Given the description of an element on the screen output the (x, y) to click on. 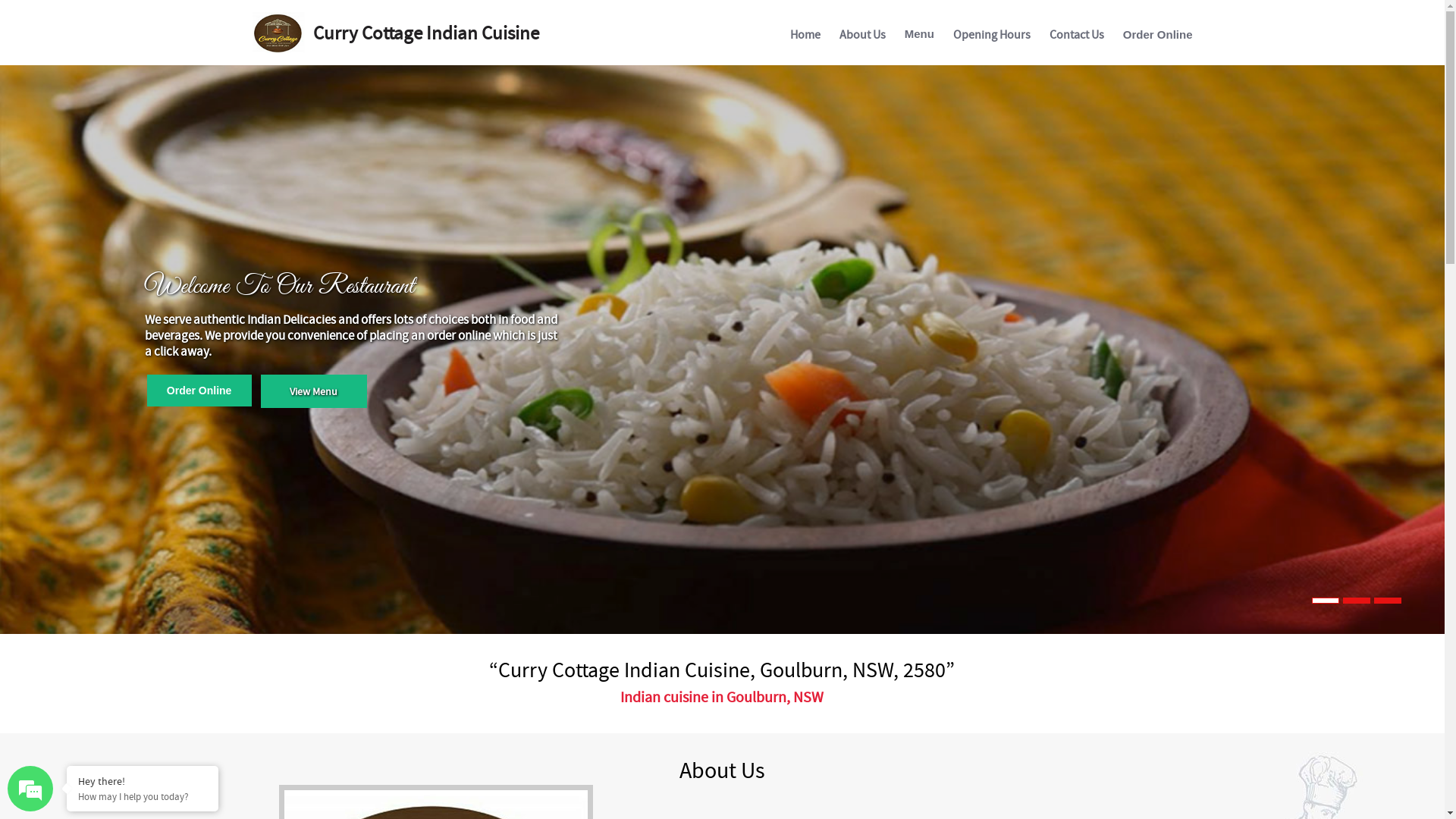
Order Online Element type: text (199, 390)
View Menu Element type: text (313, 390)
Order Online Element type: text (1157, 37)
Contact Us Element type: text (1076, 37)
Menu Element type: text (919, 36)
About Us Element type: text (862, 37)
Home Element type: text (805, 37)
Opening Hours Element type: text (991, 37)
